Given the description of an element on the screen output the (x, y) to click on. 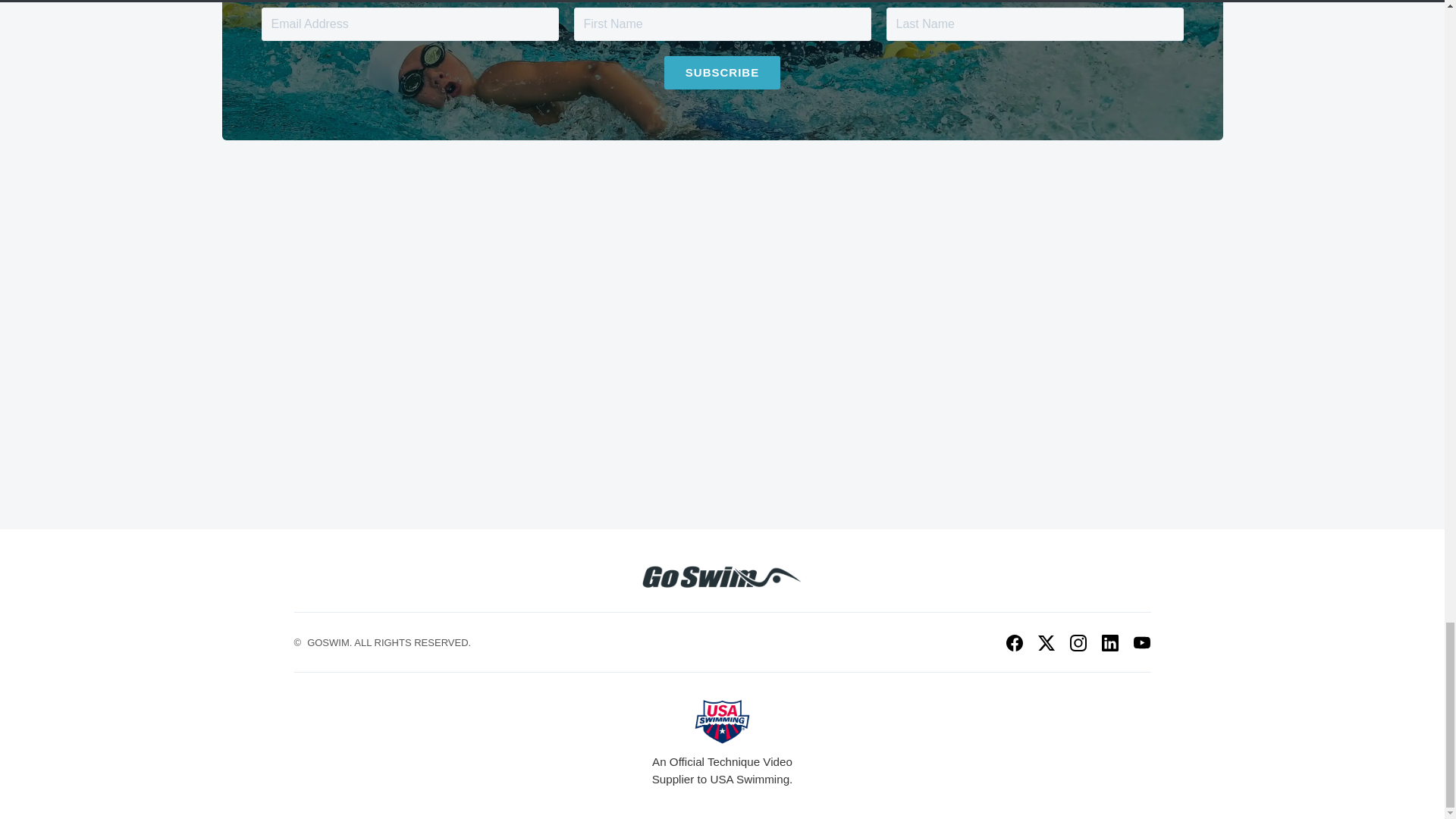
Subscribe (721, 72)
